Given the description of an element on the screen output the (x, y) to click on. 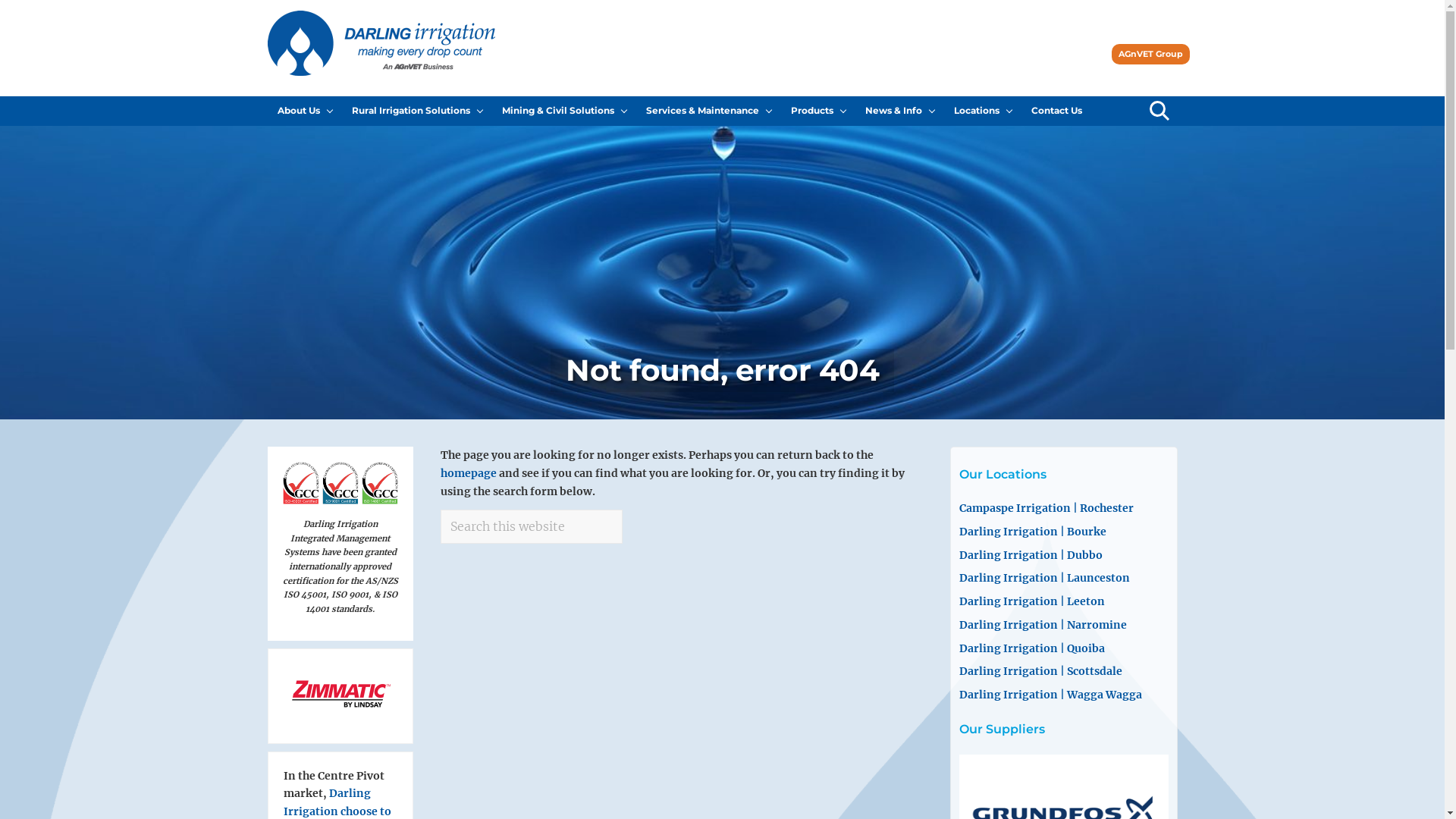
Darling Irrigation | Scottsdale Element type: text (1039, 670)
Darling Irrigation | Launceston Element type: text (1043, 577)
AGnVET Group Element type: text (1150, 53)
Mining & Civil Solutions Element type: text (563, 110)
Search Element type: text (621, 508)
Skip to primary navigation Element type: text (0, 0)
Darling Irrigation | Narromine Element type: text (1042, 624)
Darling Irrigation | Bourke Element type: text (1031, 531)
Darling Irrigation | Wagga Wagga Element type: text (1049, 694)
Rural Irrigation Solutions Element type: text (416, 110)
Products Element type: text (818, 110)
Locations Element type: text (981, 110)
Services & Maintenance Element type: text (707, 110)
homepage Element type: text (467, 473)
Darling Irrigation | Leeton Element type: text (1031, 601)
Search Element type: text (1157, 110)
Darling Irrigation | Dubbo Element type: text (1029, 554)
News & Info Element type: text (899, 110)
Campaspe Irrigation | Rochester Element type: text (1045, 507)
Darling Irrigation | Quoiba Element type: text (1031, 648)
Contact Us Element type: text (1055, 110)
About Us Element type: text (303, 110)
